Given the description of an element on the screen output the (x, y) to click on. 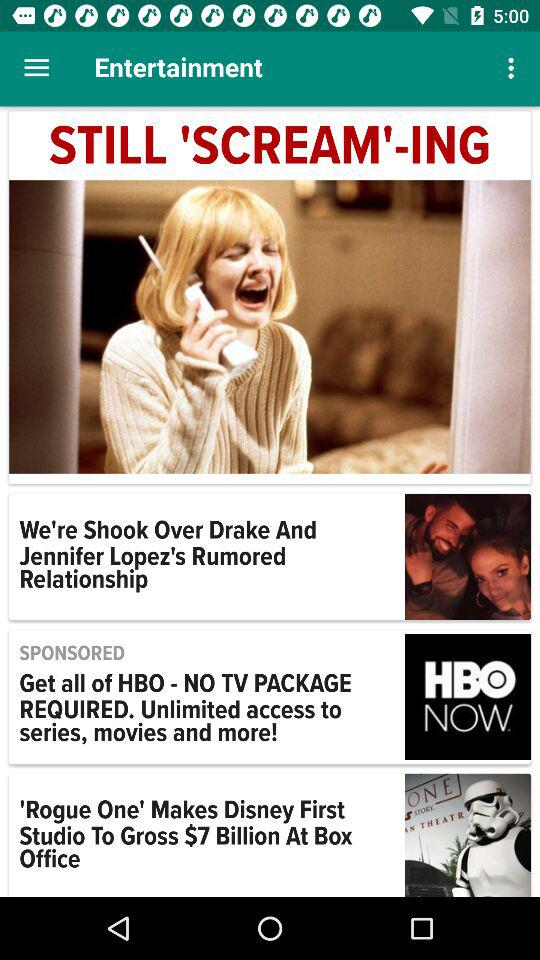
select the icon above still 'scream'-ing item (513, 67)
